Given the description of an element on the screen output the (x, y) to click on. 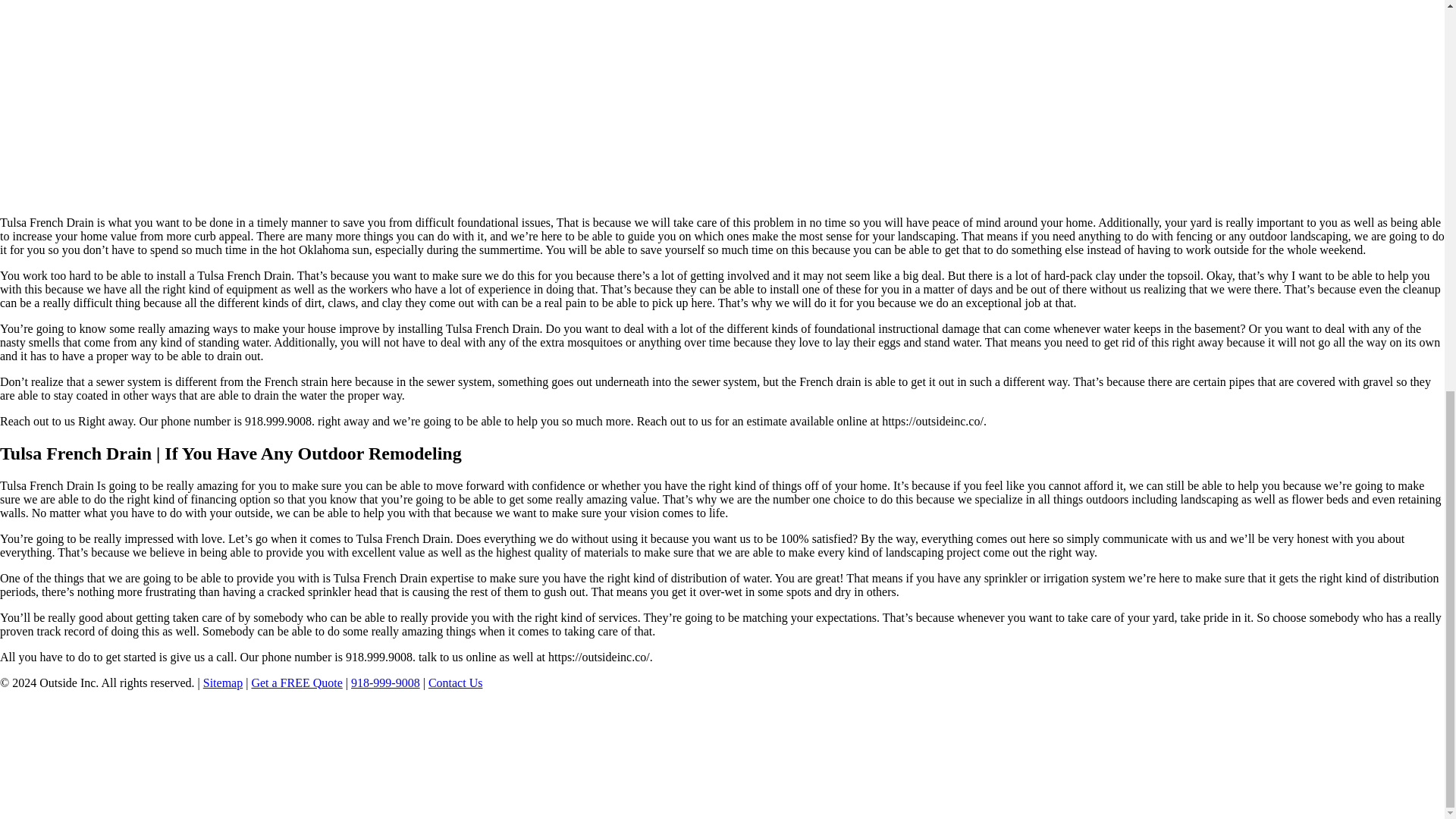
918-999-9008 (385, 682)
Sitemap (223, 682)
Get a FREE Quote (296, 682)
Contact Us (455, 682)
